Given the description of an element on the screen output the (x, y) to click on. 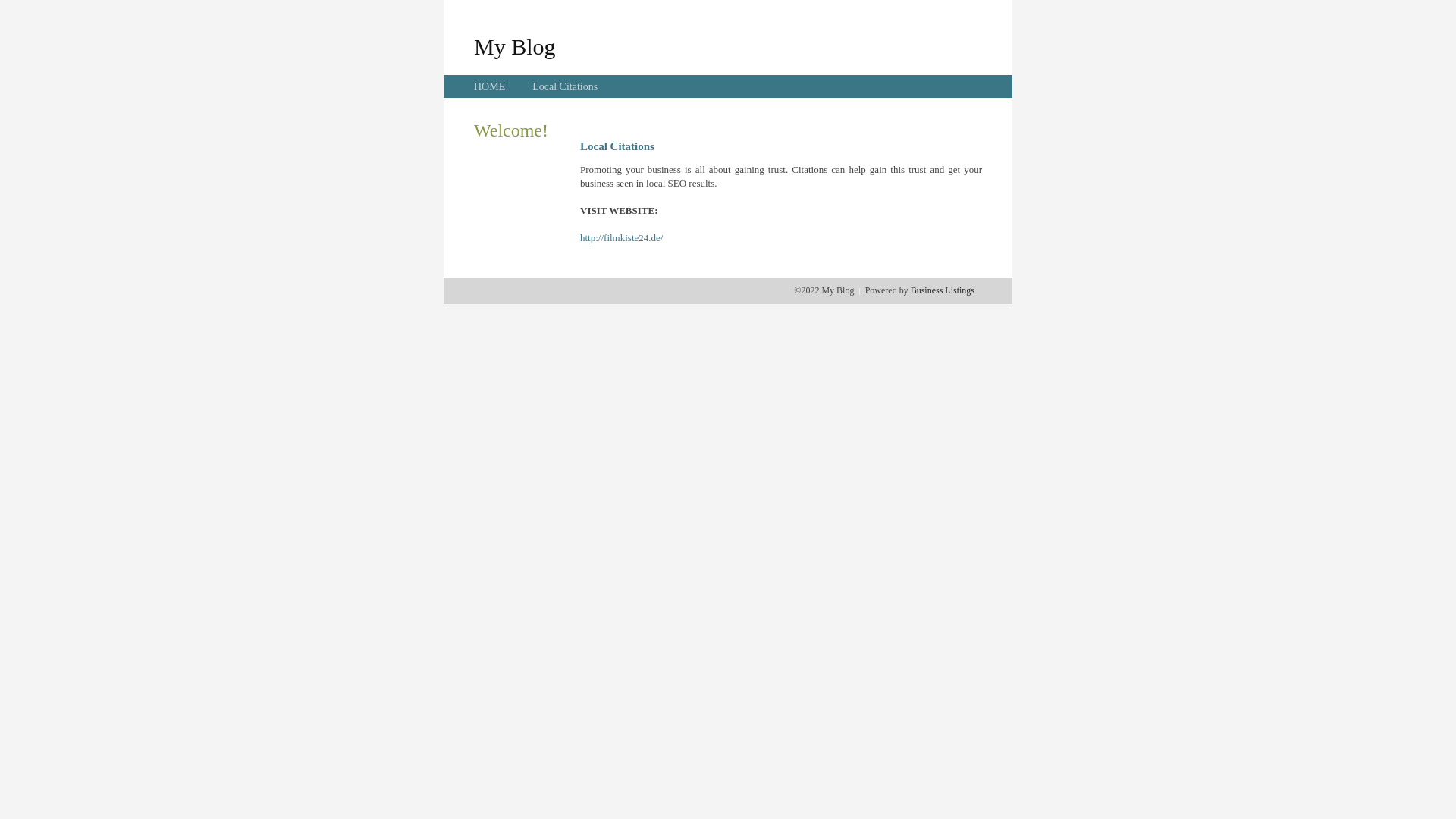
My Blog Element type: text (514, 46)
Local Citations Element type: text (564, 86)
Business Listings Element type: text (942, 290)
HOME Element type: text (489, 86)
http://filmkiste24.de/ Element type: text (621, 237)
